Given the description of an element on the screen output the (x, y) to click on. 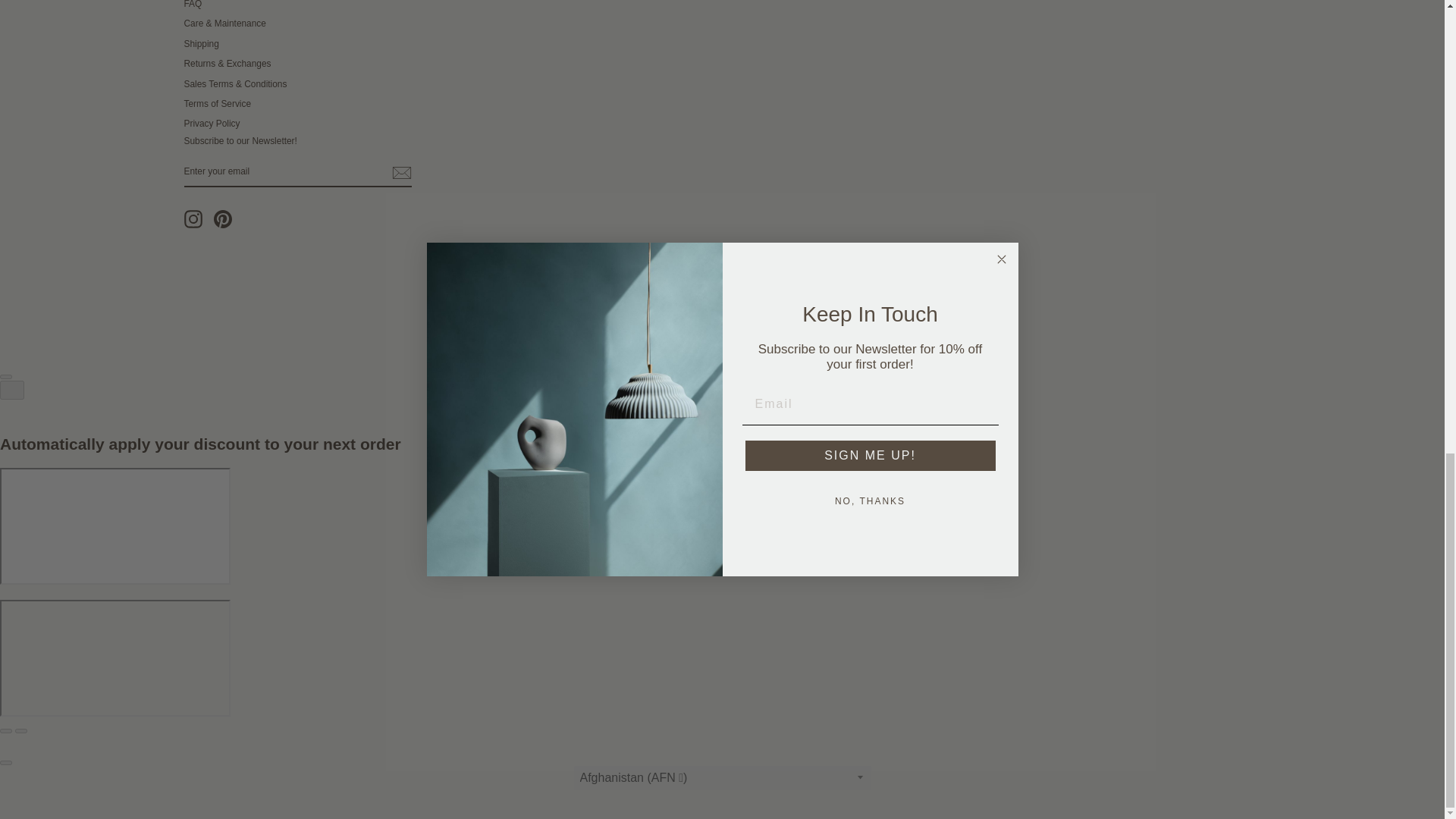
instagram (192, 218)
icon-email (400, 172)
Casson on Pinterest (222, 218)
Casson on Instagram (192, 218)
